Given the description of an element on the screen output the (x, y) to click on. 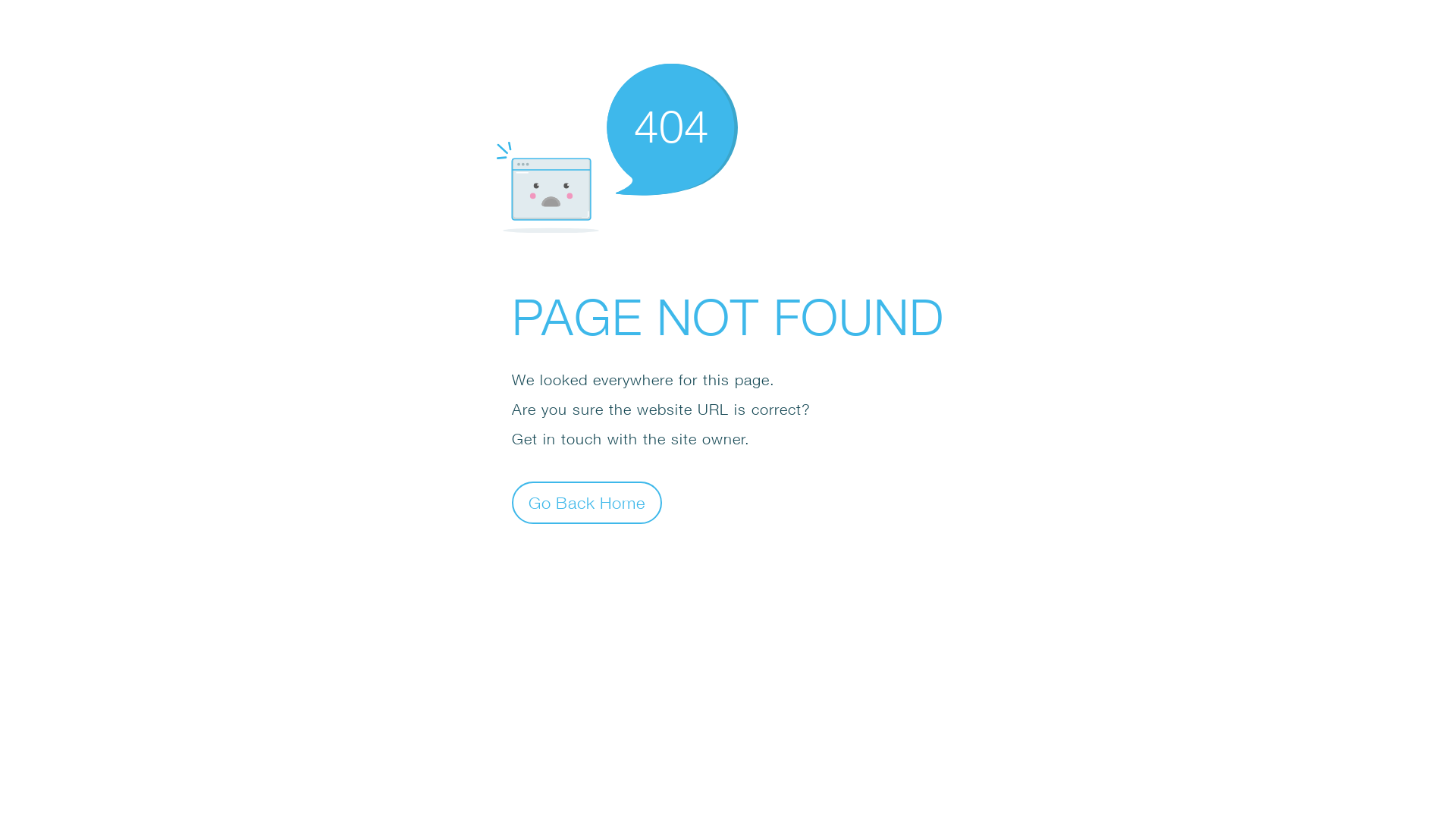
Go Back Home Element type: text (586, 502)
